Given the description of an element on the screen output the (x, y) to click on. 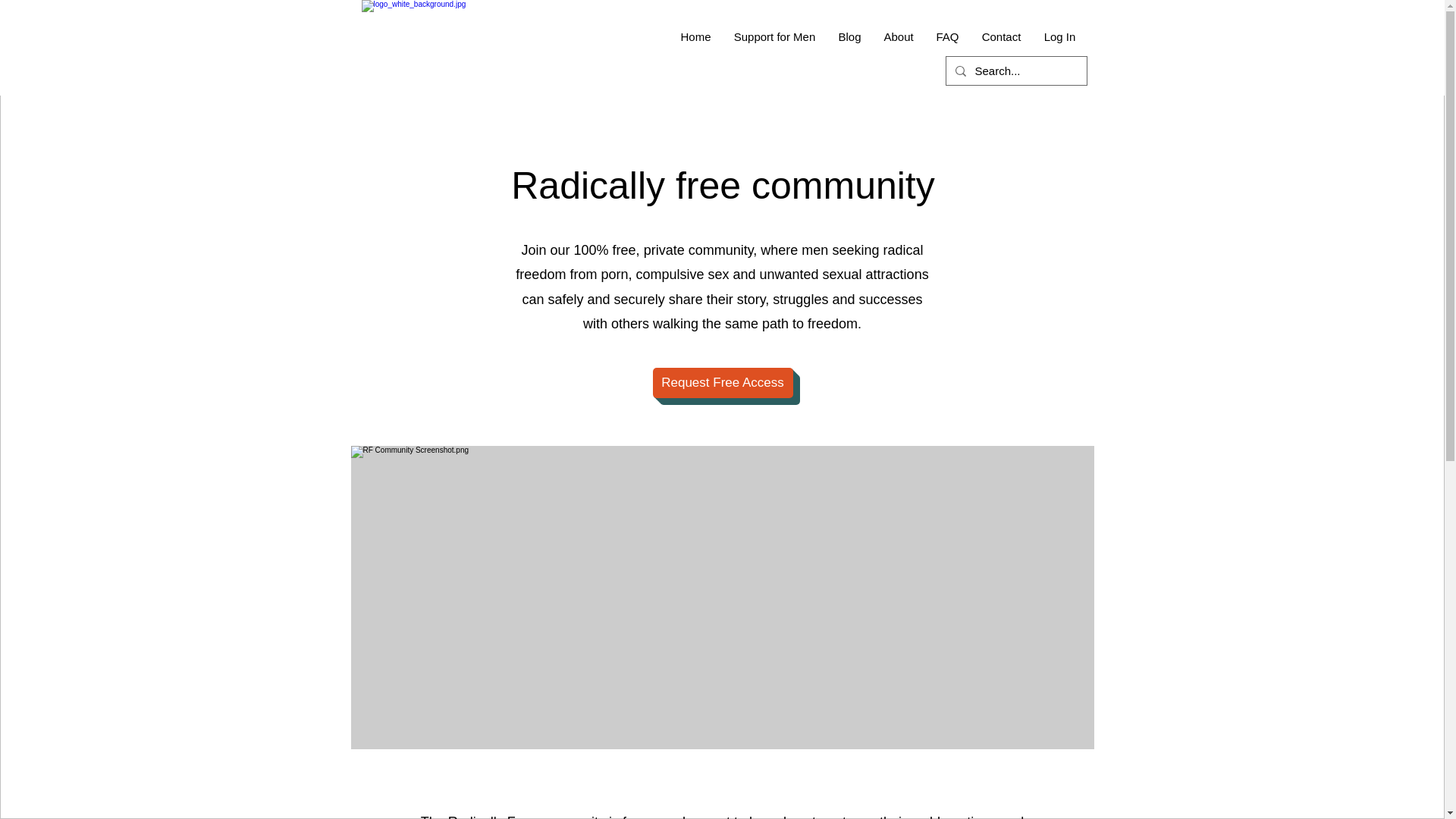
Request Free Access (722, 382)
Log In (1059, 37)
Home (695, 37)
Contact (1001, 37)
FAQ (947, 37)
Blog (849, 37)
About (898, 37)
Support for Men (774, 37)
